Given the description of an element on the screen output the (x, y) to click on. 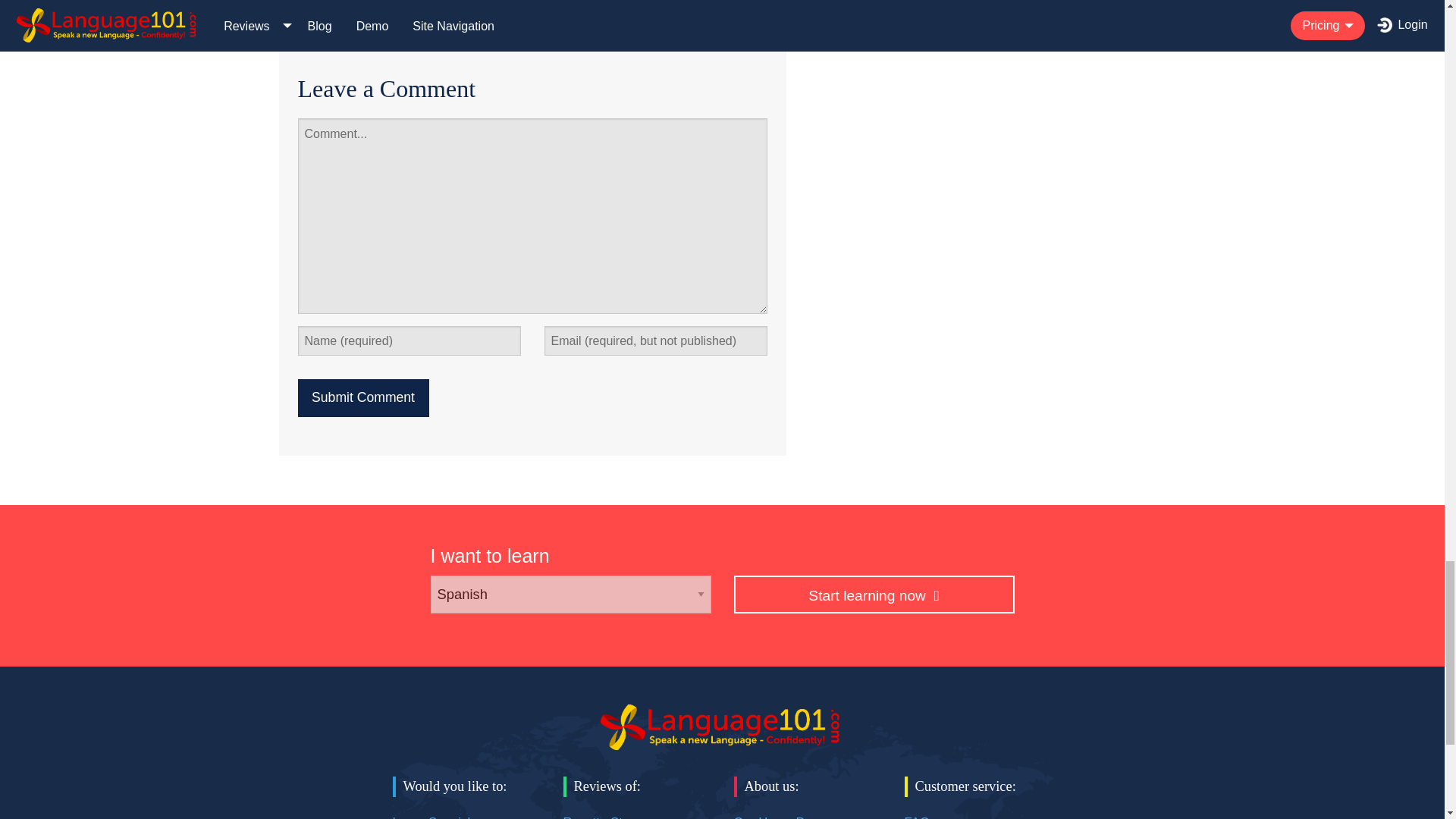
Reply (324, 25)
Submit Comment (362, 397)
Submit Comment (362, 397)
